Given the description of an element on the screen output the (x, y) to click on. 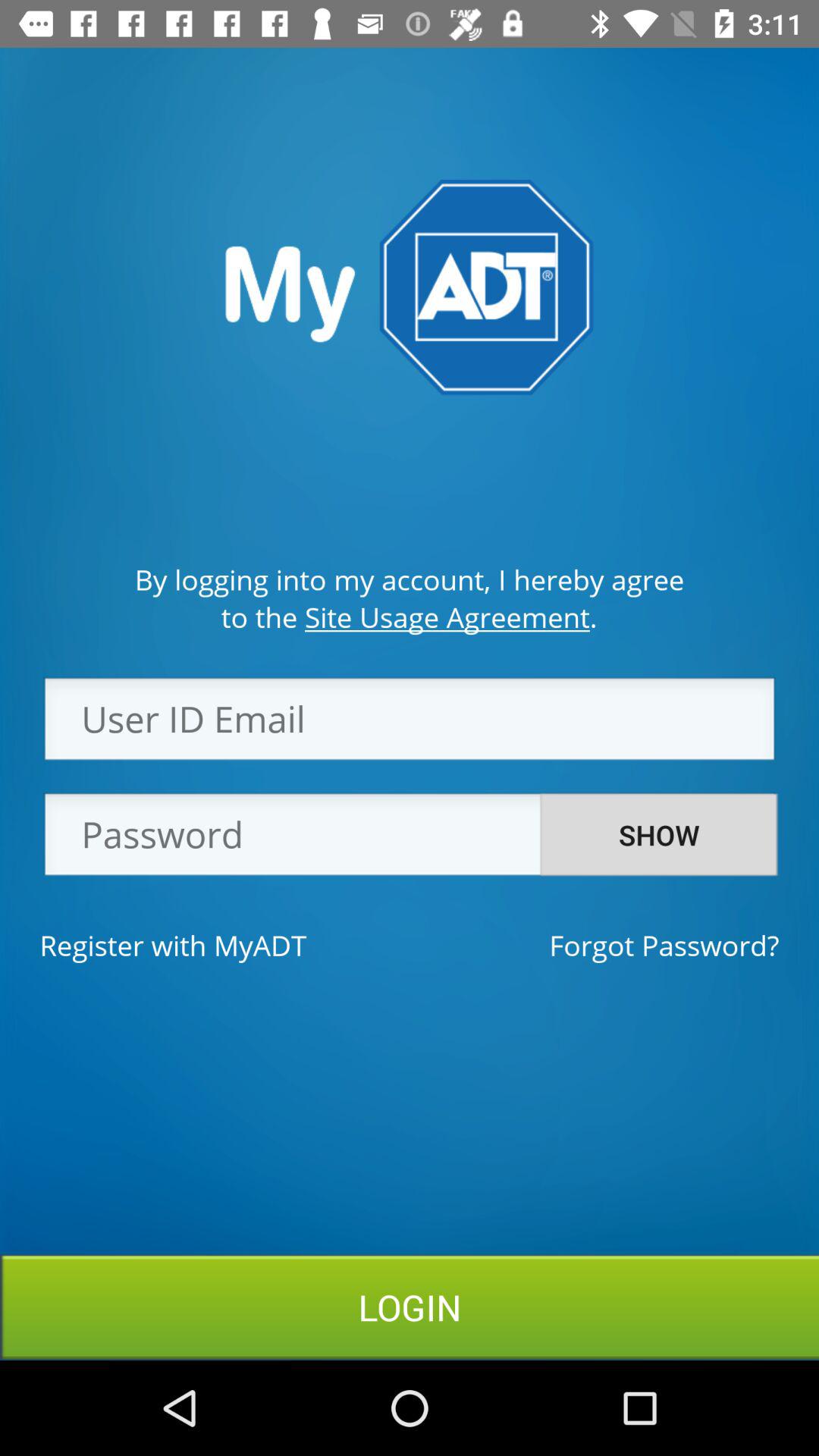
launch icon to the left of the forgot password? item (172, 945)
